Given the description of an element on the screen output the (x, y) to click on. 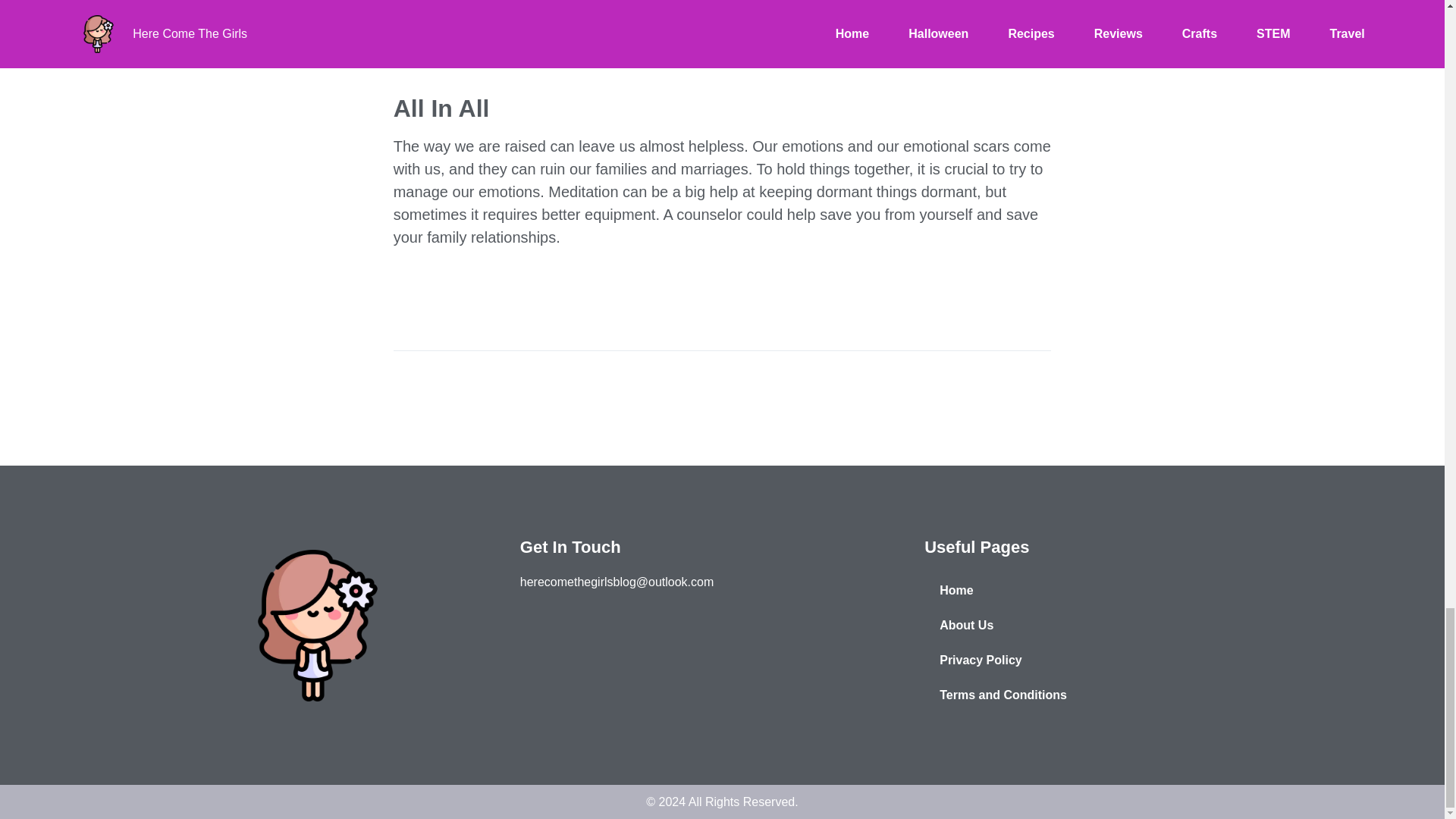
Here Come The Girls Blog Logo png (317, 625)
